Given the description of an element on the screen output the (x, y) to click on. 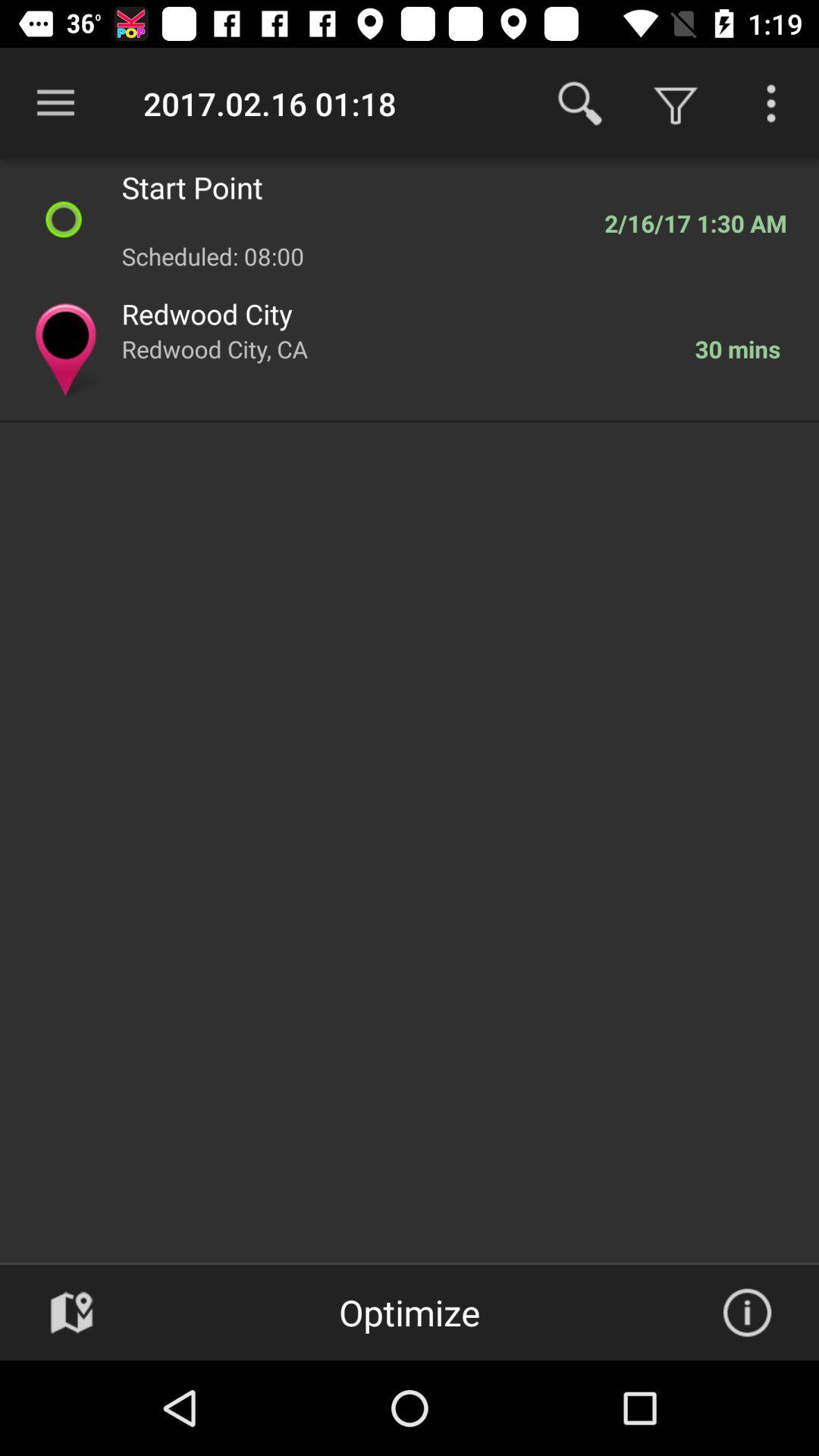
view directions on a map (71, 1312)
